Given the description of an element on the screen output the (x, y) to click on. 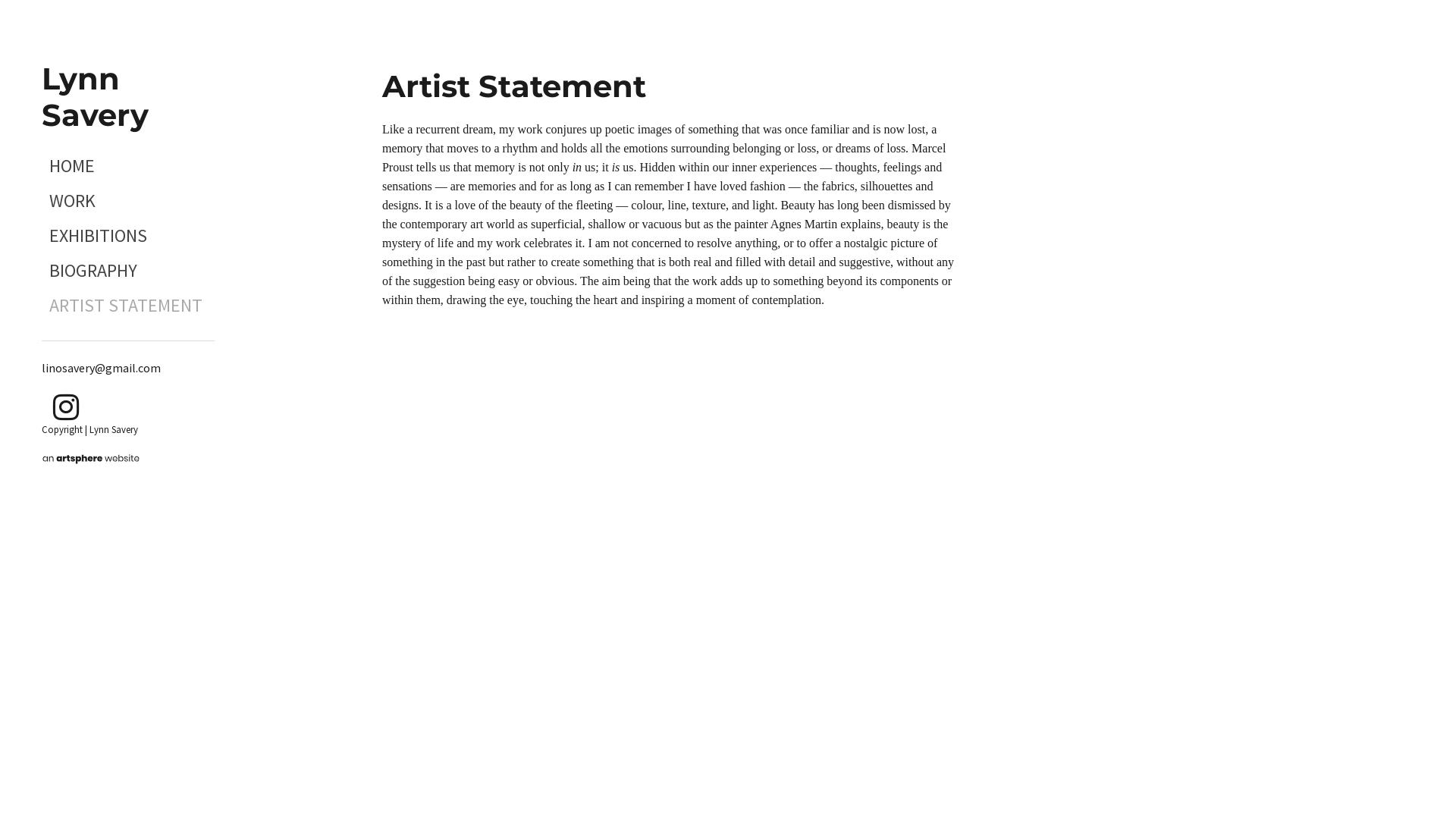
HOME Element type: text (127, 165)
WORK Element type: text (127, 200)
ARTIST STATEMENT Element type: text (127, 305)
linosavery@gmail.com Element type: text (100, 367)
an artsphere website Element type: hover (91, 458)
BIOGRAPHY Element type: text (127, 270)
EXHIBITIONS Element type: text (127, 235)
